Given the description of an element on the screen output the (x, y) to click on. 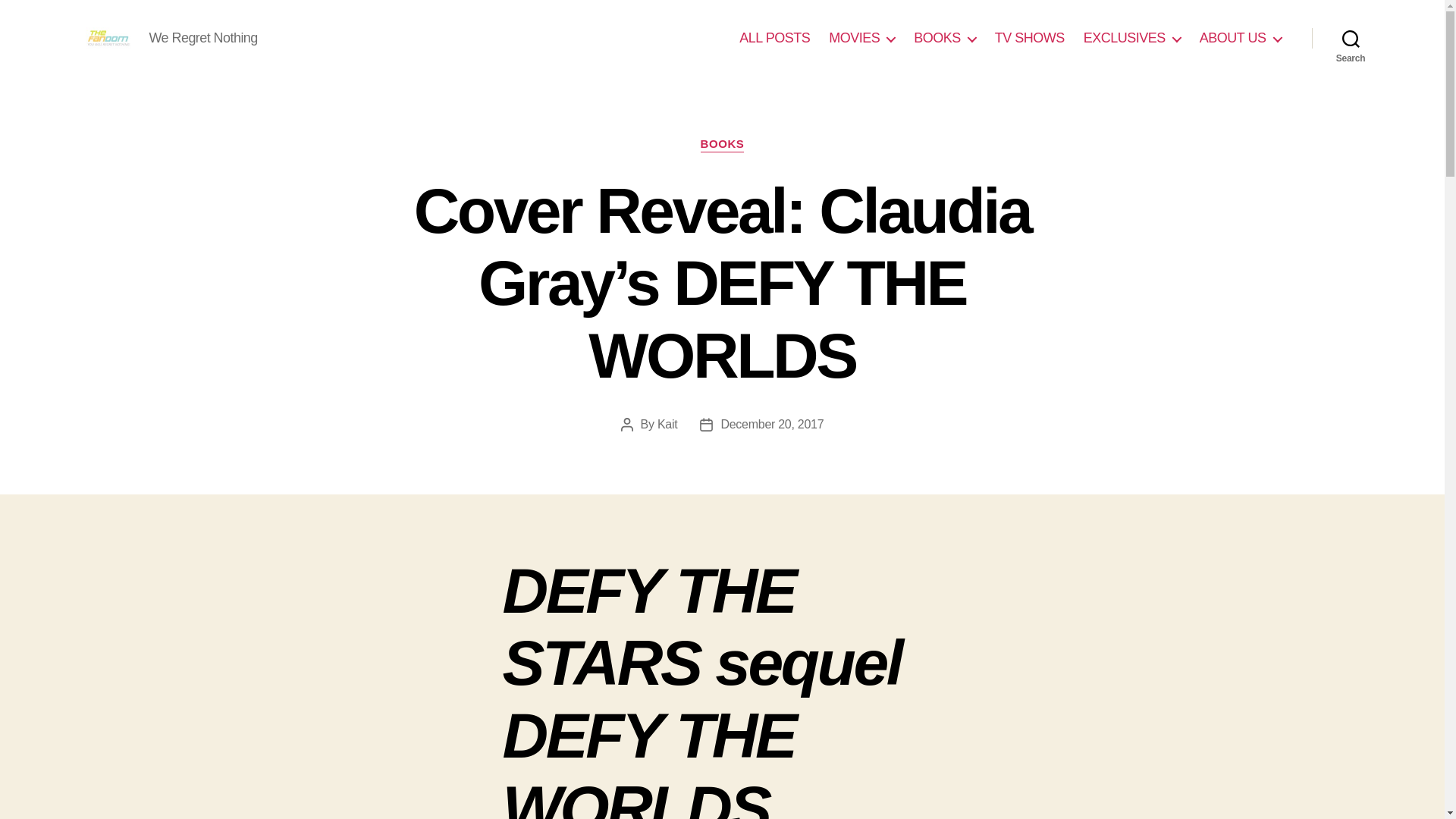
Search (1350, 37)
BOOKS (944, 38)
ABOUT US (1240, 38)
TV SHOWS (1029, 38)
ALL POSTS (774, 38)
MOVIES (861, 38)
EXCLUSIVES (1131, 38)
Kait (668, 423)
BOOKS (722, 144)
